Given the description of an element on the screen output the (x, y) to click on. 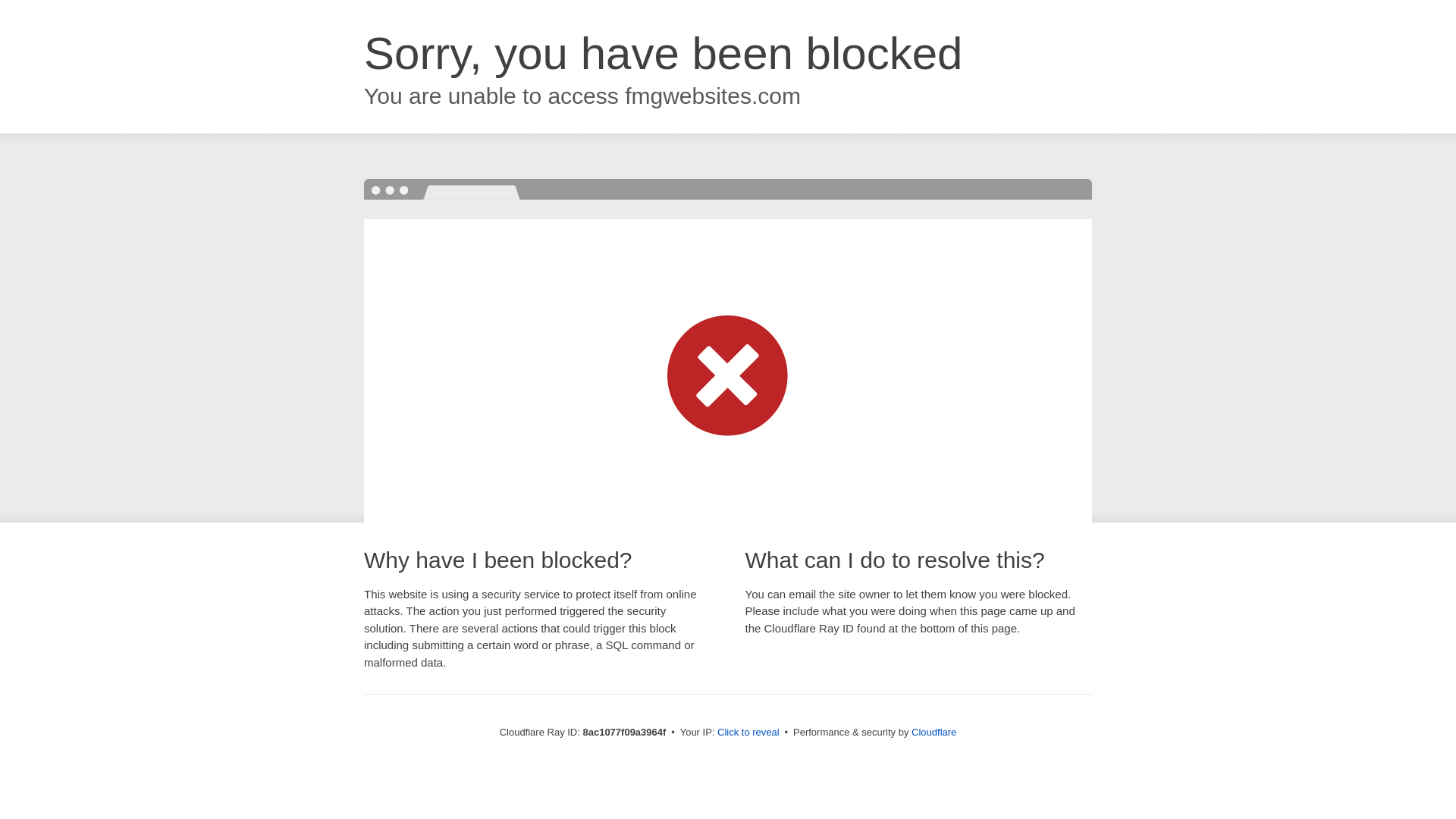
Click to reveal (747, 732)
Cloudflare (933, 731)
